Given the description of an element on the screen output the (x, y) to click on. 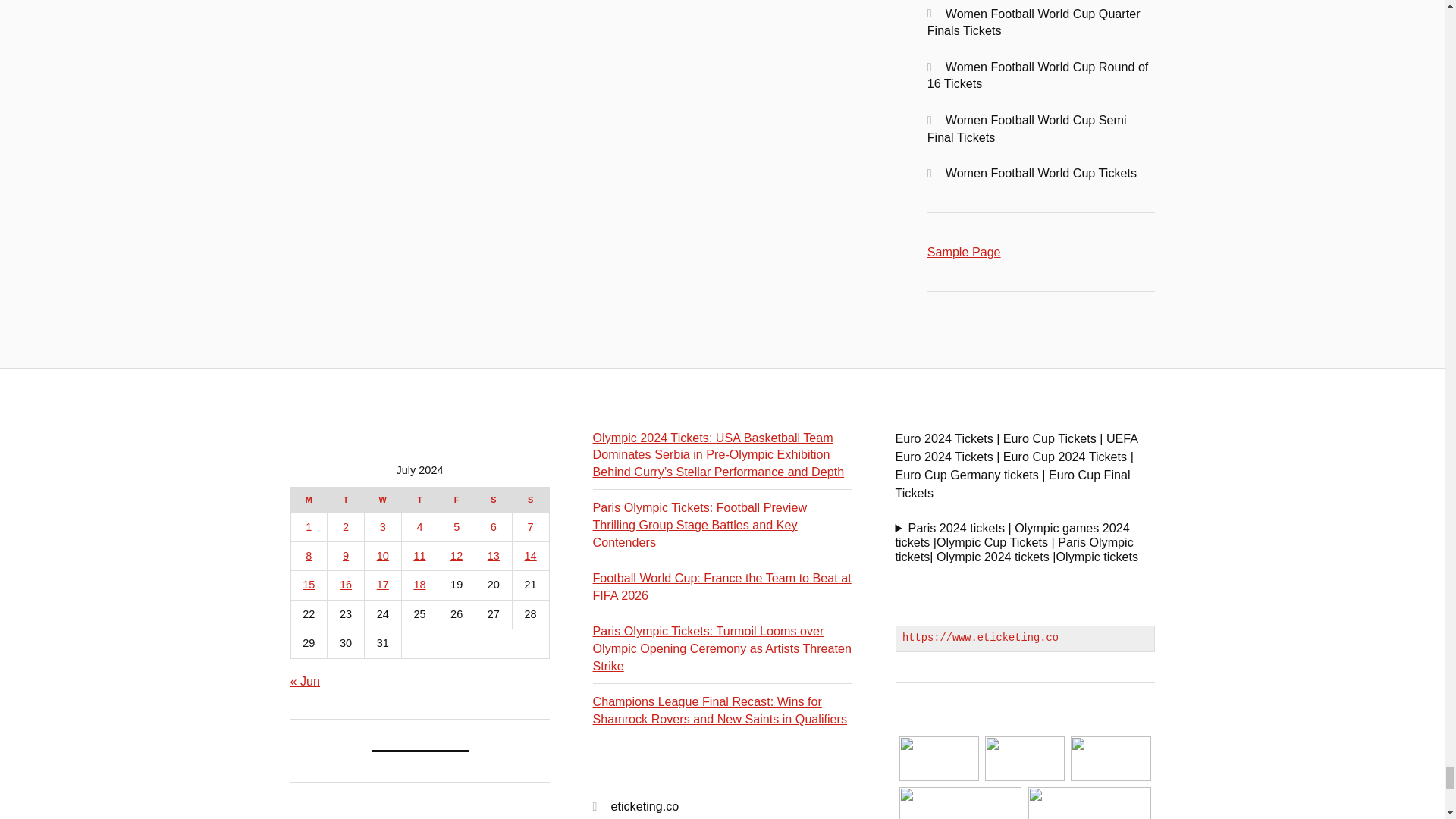
Monday (308, 499)
Friday (457, 499)
Tuesday (346, 499)
Sunday (530, 499)
Wednesday (382, 499)
Saturday (494, 499)
Thursday (419, 499)
